Given the description of an element on the screen output the (x, y) to click on. 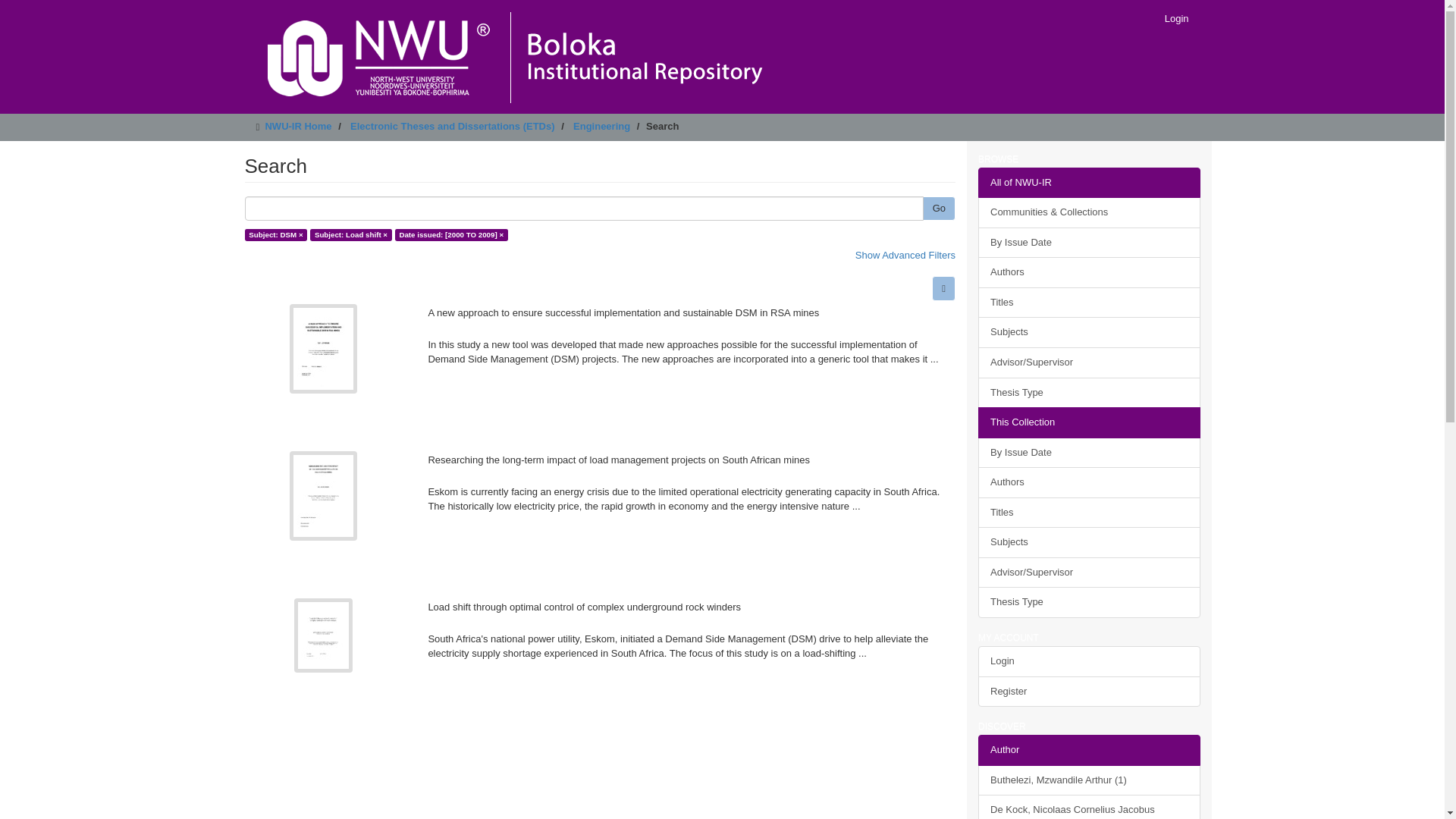
NWU-IR Home (297, 125)
Engineering (601, 125)
Show Advanced Filters (905, 255)
Go (939, 208)
Login (1176, 18)
